Given the description of an element on the screen output the (x, y) to click on. 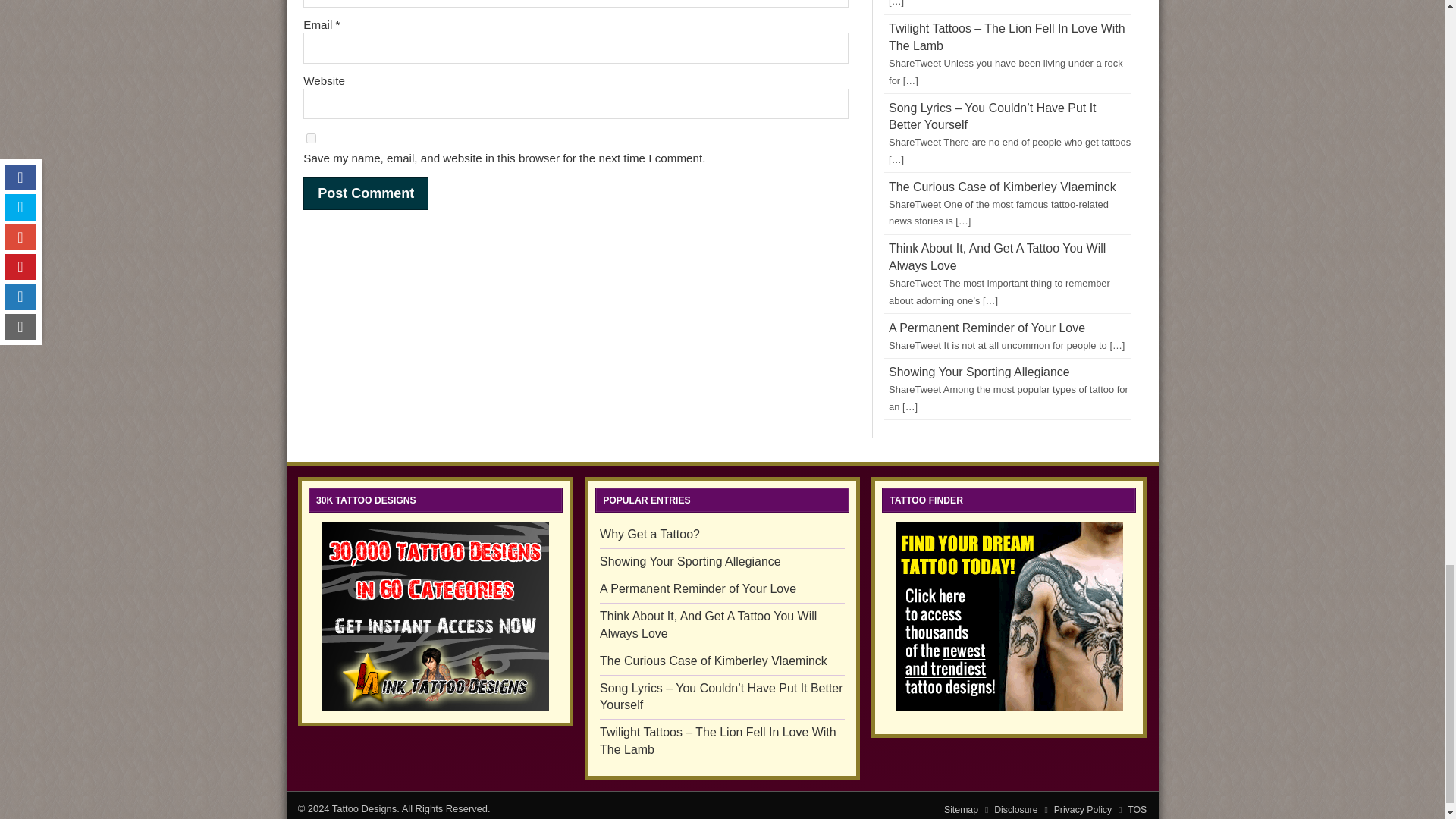
Post Comment (365, 193)
yes (310, 138)
